Given the description of an element on the screen output the (x, y) to click on. 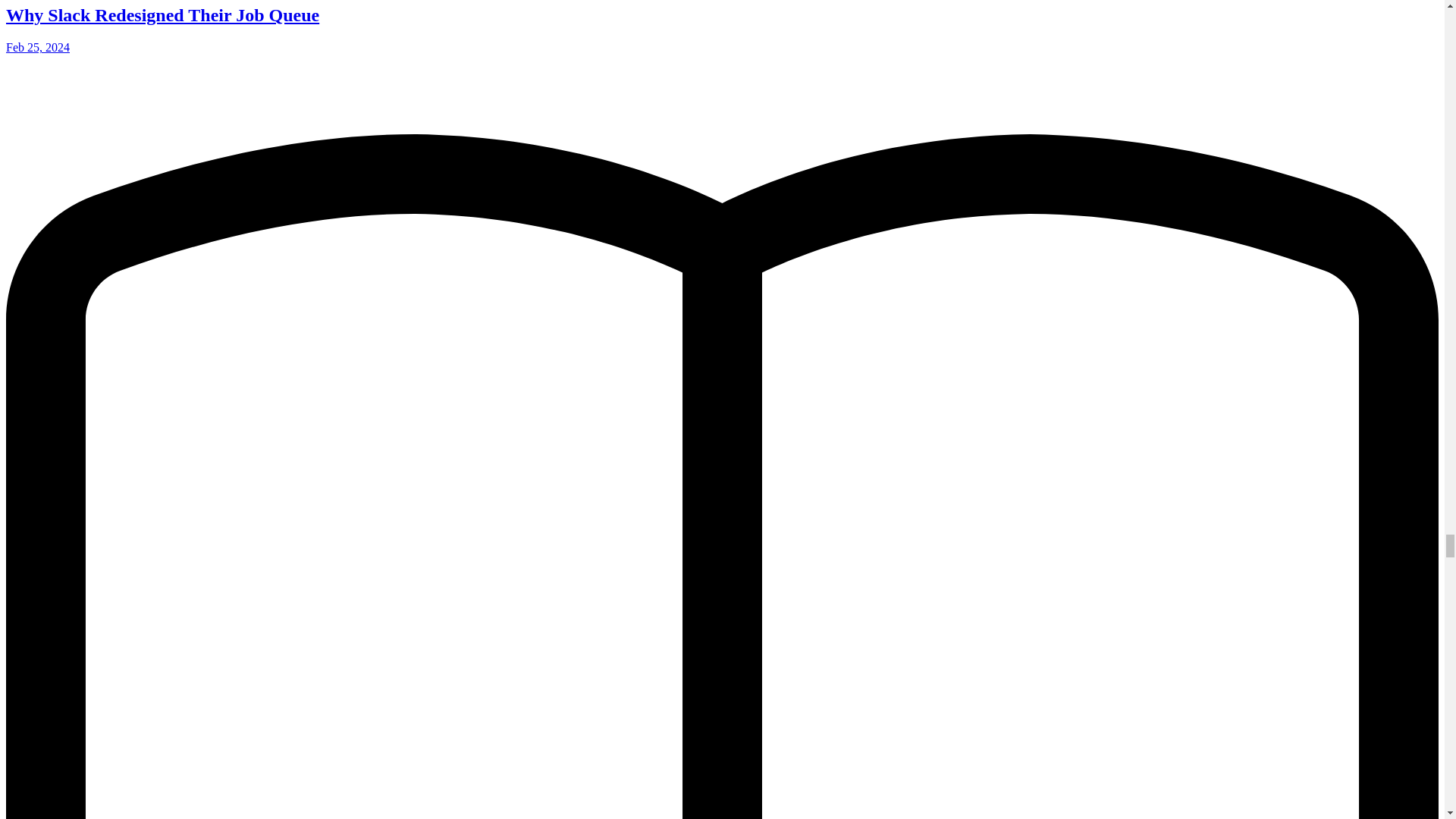
Why Slack Redesigned Their Job Queue (161, 14)
